Given the description of an element on the screen output the (x, y) to click on. 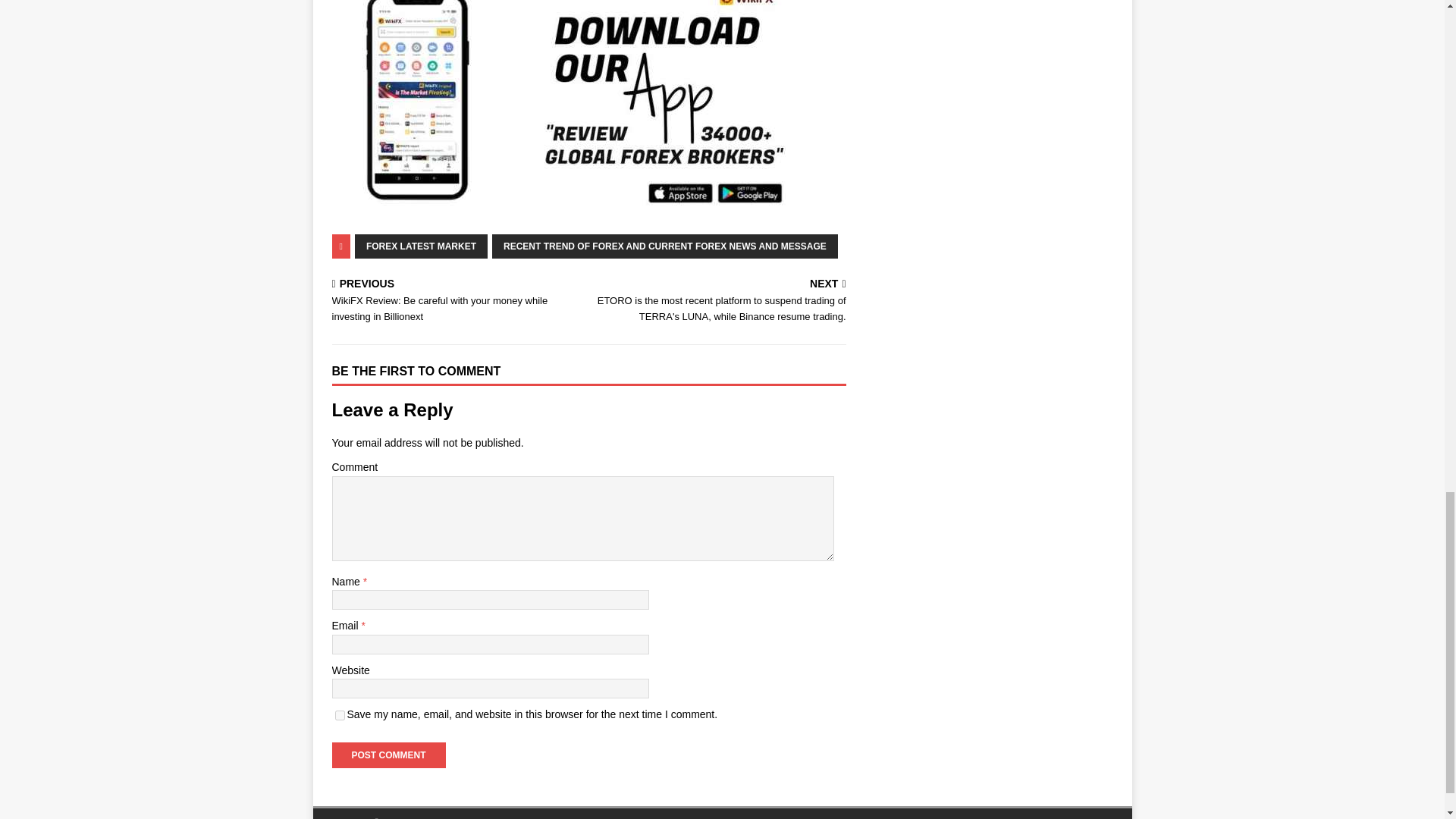
yes (339, 715)
RECENT TREND OF FOREX AND CURRENT FOREX NEWS AND MESSAGE (665, 246)
FOREX LATEST MARKET (421, 246)
pasted  (558, 109)
Post Comment (388, 755)
Post Comment (388, 755)
